Given the description of an element on the screen output the (x, y) to click on. 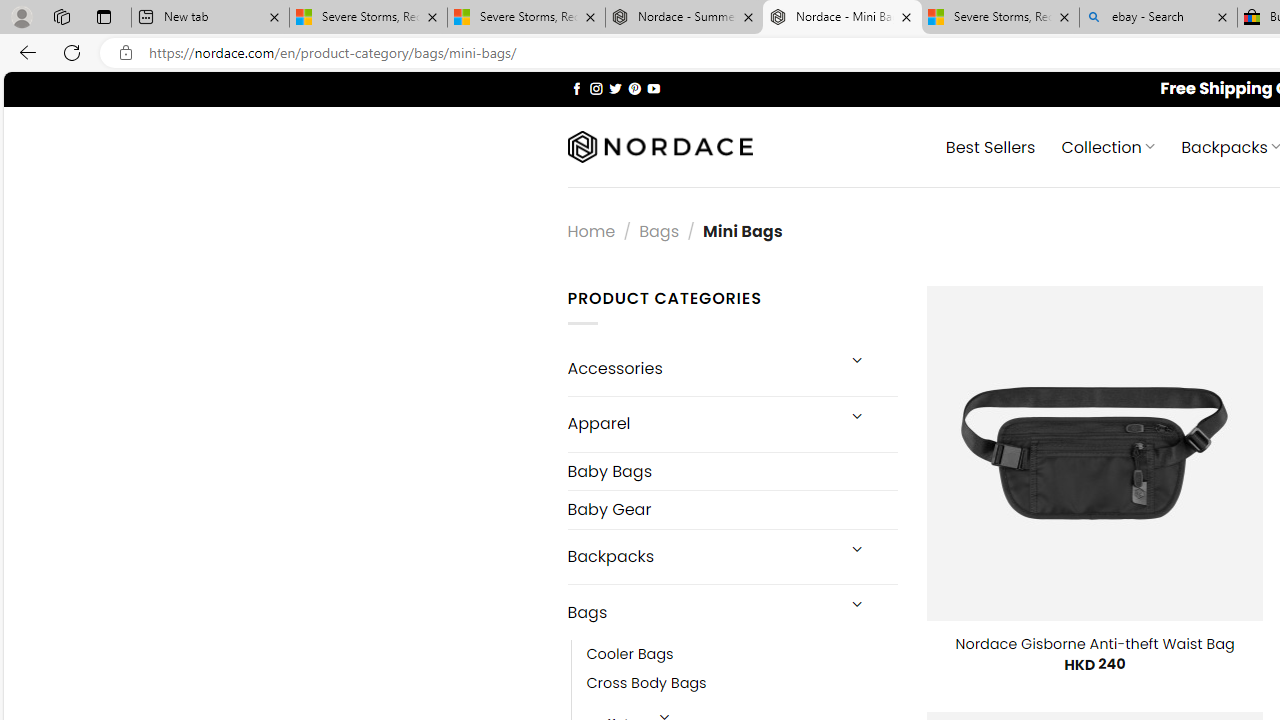
Accessories (700, 368)
Cooler Bags (630, 655)
Home (591, 230)
Baby Gear (732, 509)
Cross Body Bags (646, 683)
